Given the description of an element on the screen output the (x, y) to click on. 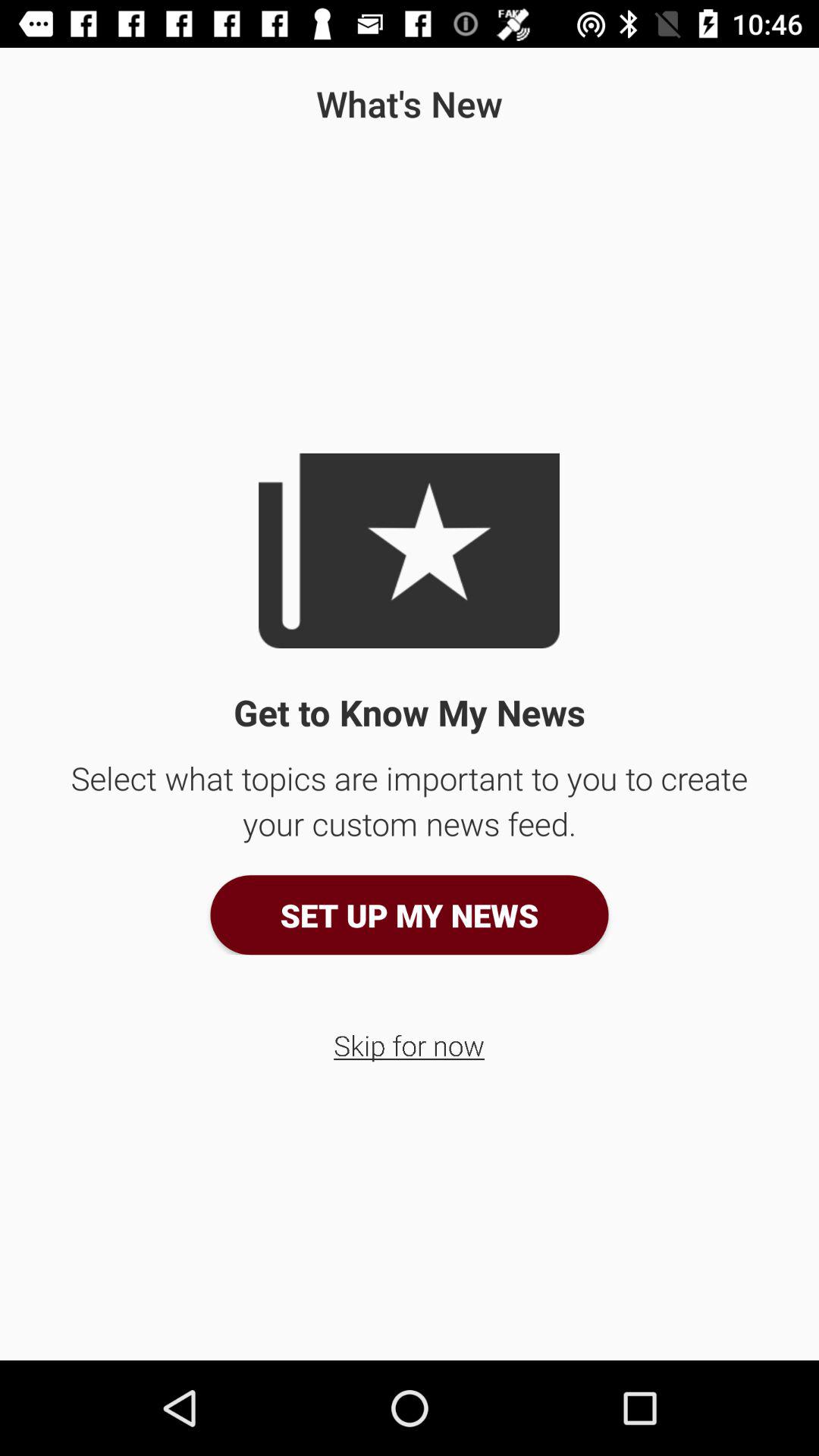
jump until the set up my (409, 914)
